Given the description of an element on the screen output the (x, y) to click on. 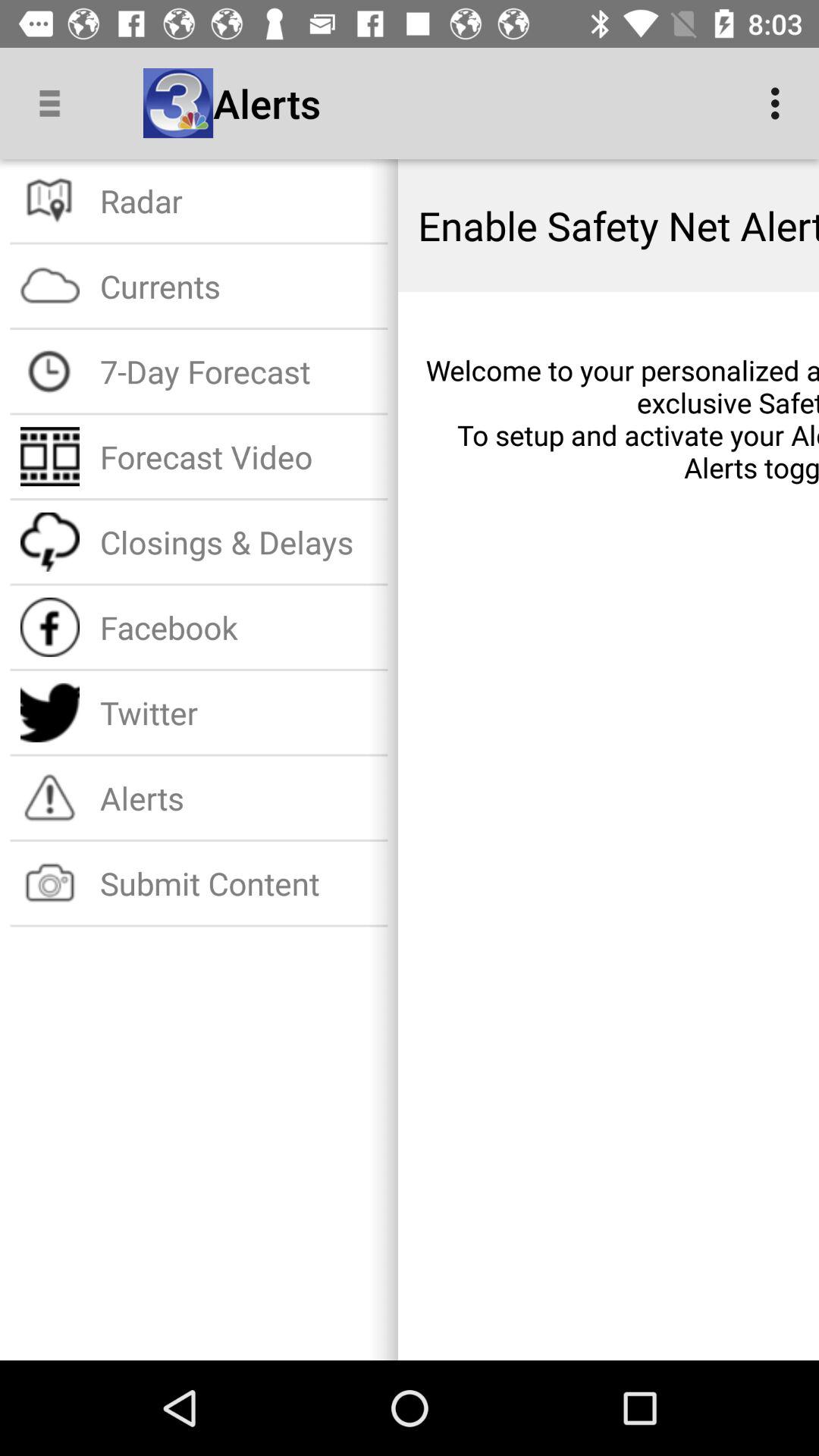
choose item above the enable safety net (779, 103)
